Given the description of an element on the screen output the (x, y) to click on. 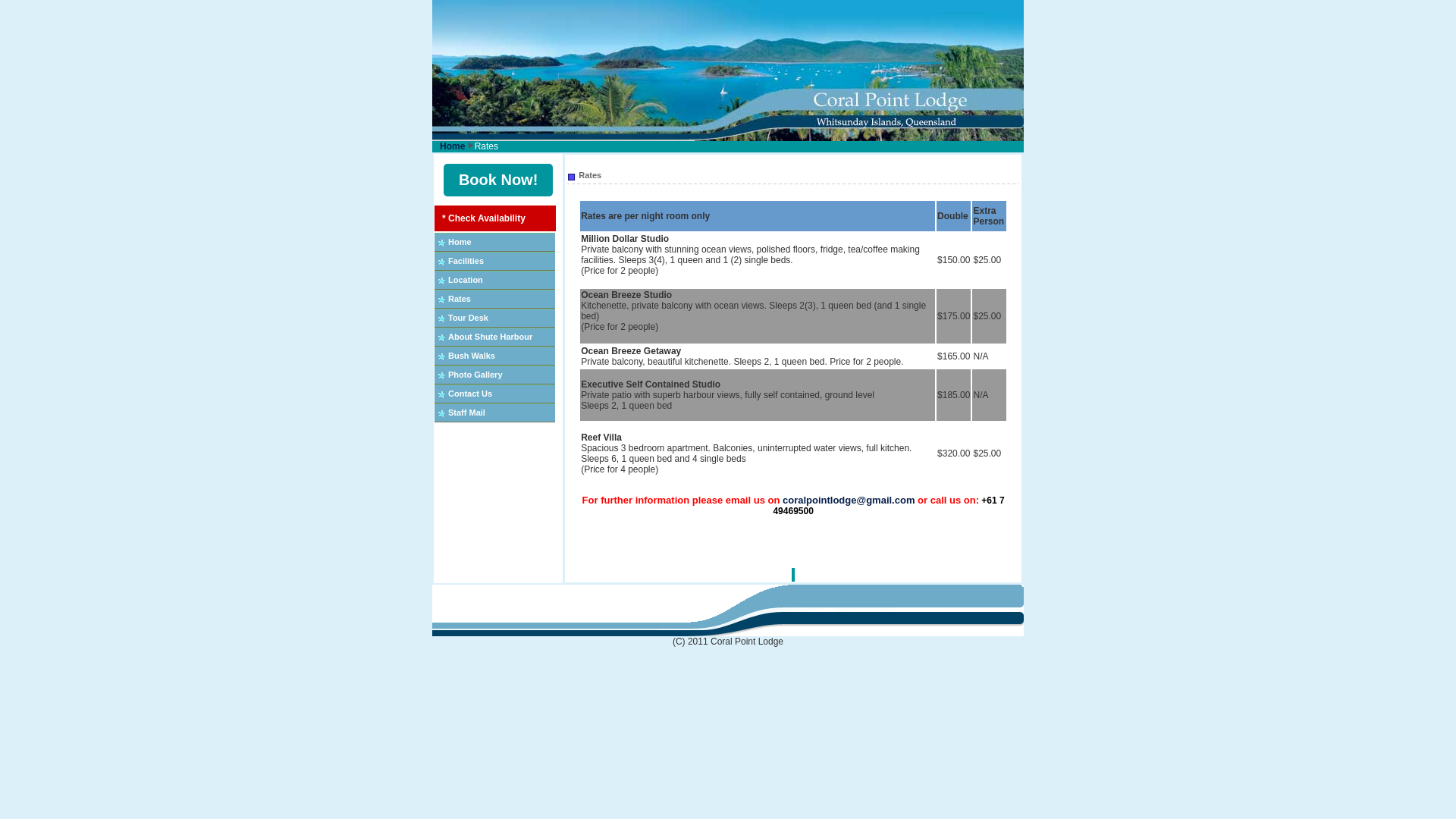
Location Element type: text (465, 279)
Contact Us Element type: text (470, 393)
coralpointlodge@gmail.com Element type: text (848, 499)
Photo Gallery Element type: text (475, 374)
Home Element type: text (459, 241)
Facilities Element type: text (465, 260)
About Shute Harbour Element type: text (490, 336)
Bush Walks Element type: text (471, 355)
Rates Element type: text (459, 298)
Staff Mail Element type: text (466, 412)
* Check Availability Element type: text (483, 218)
Home Element type: text (451, 146)
Tour Desk Element type: text (468, 317)
